Given the description of an element on the screen output the (x, y) to click on. 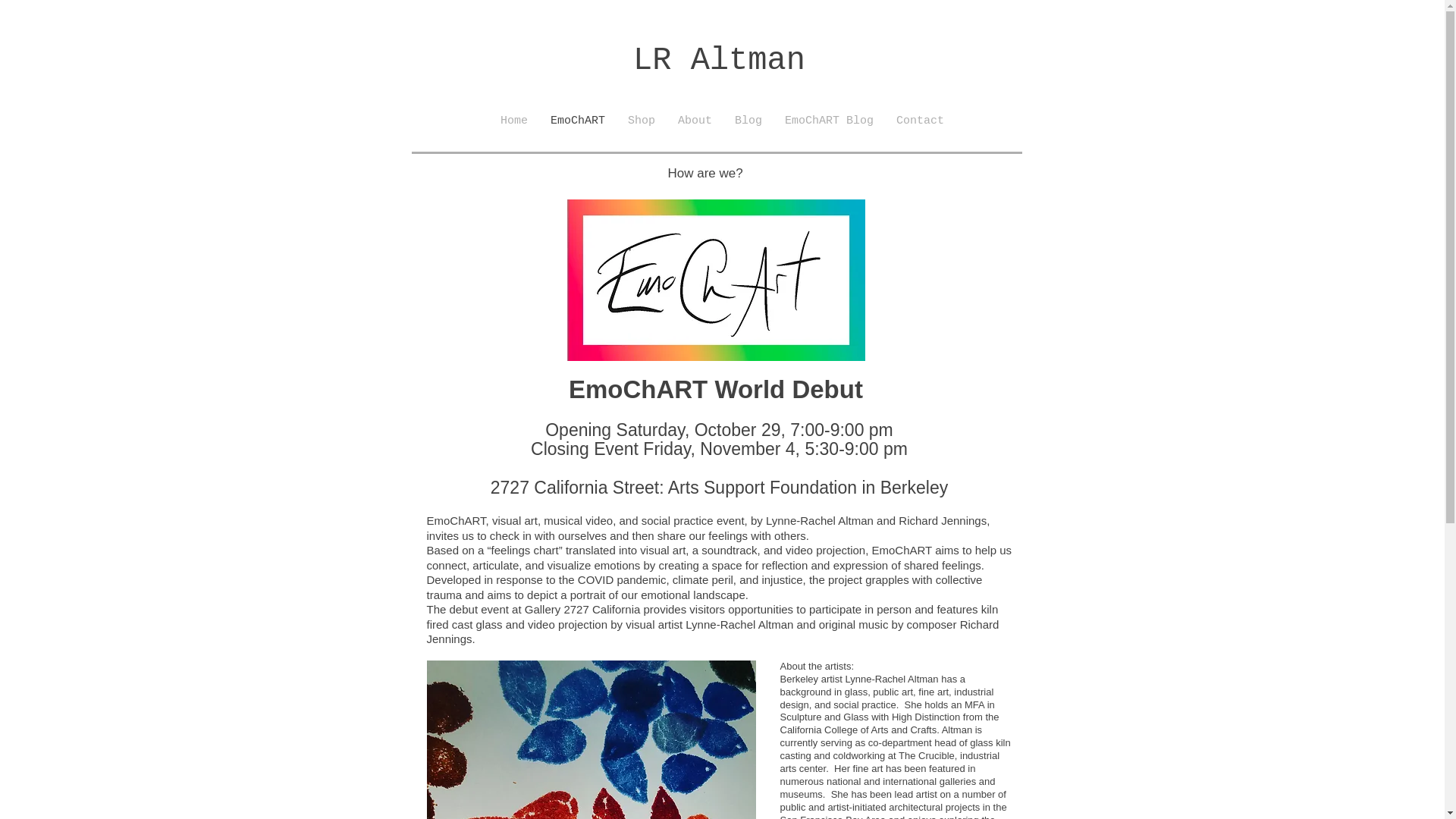
EmoChART (576, 121)
Blog (748, 121)
Shop (640, 121)
EmoChART Blog (829, 121)
Contact (920, 121)
Home (513, 121)
LR Altman (719, 60)
About (694, 121)
